Given the description of an element on the screen output the (x, y) to click on. 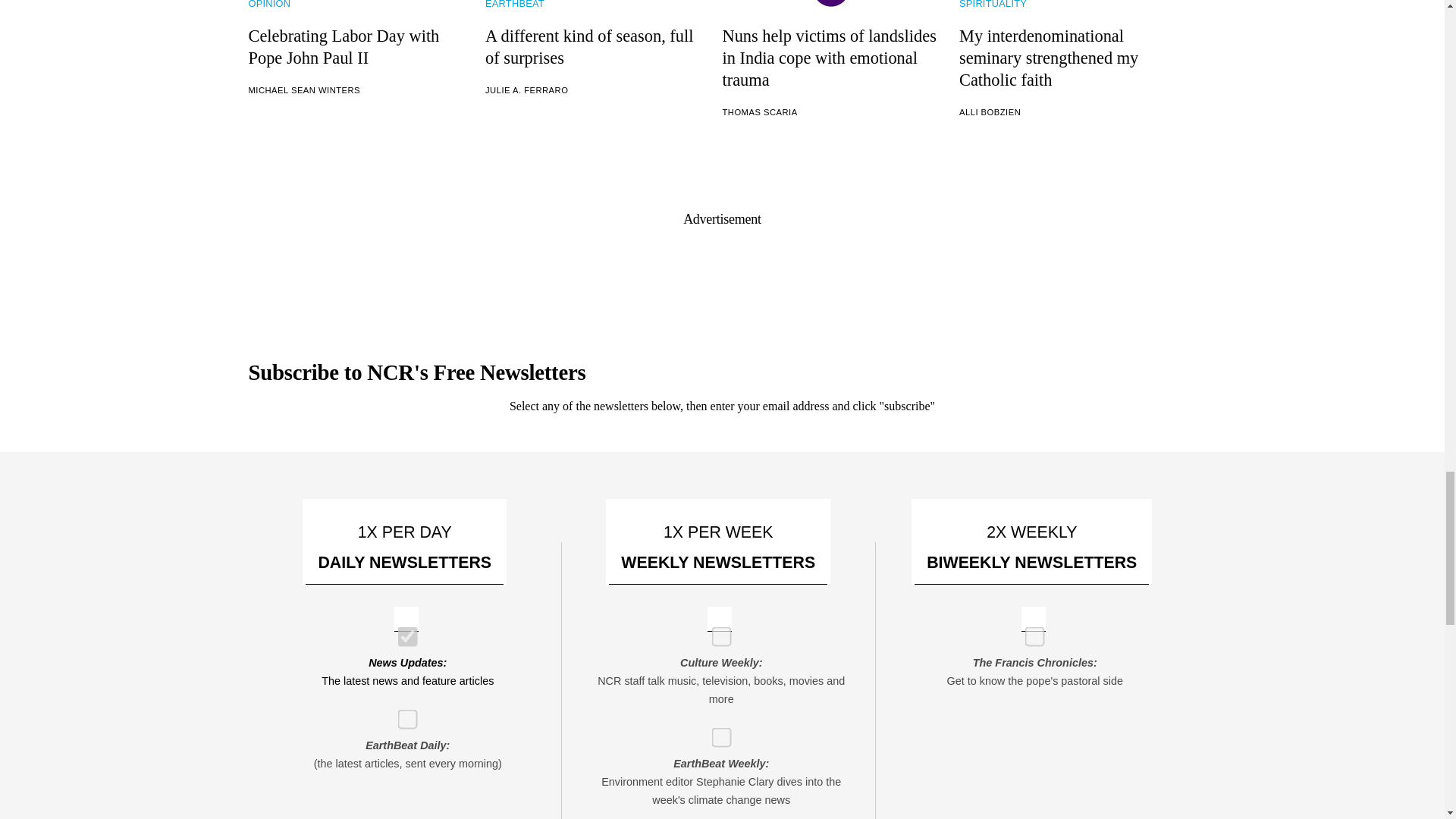
9b73e2ca65 (1030, 632)
efa1b974a2 (402, 714)
f86221b965 (402, 632)
ef6500f2d3 (715, 732)
e536af3ae2 (715, 632)
